Given the description of an element on the screen output the (x, y) to click on. 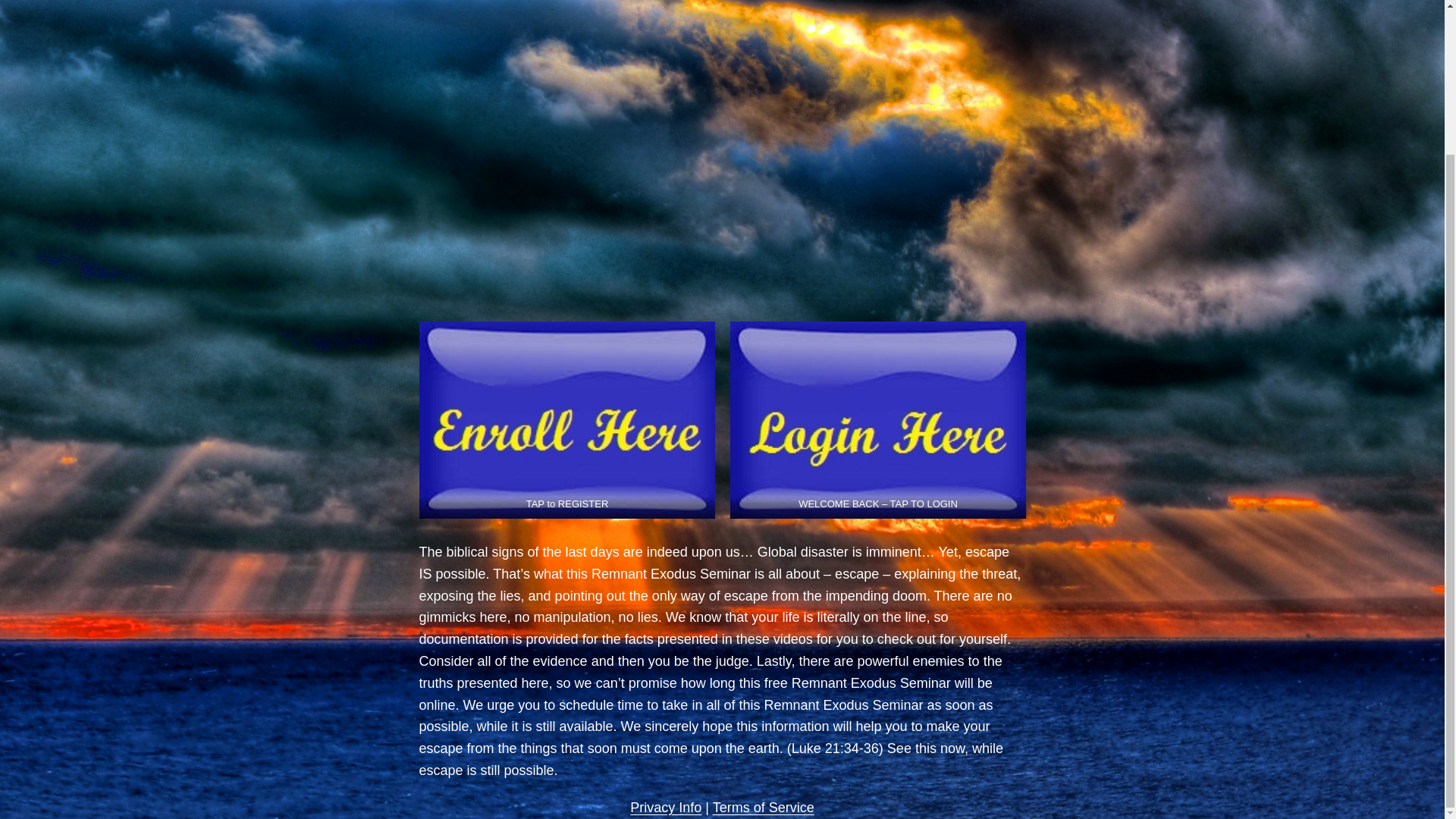
Privacy Info (665, 807)
enroll-here1 (566, 419)
login-here1 (877, 419)
Terms of Service (763, 807)
